Given the description of an element on the screen output the (x, y) to click on. 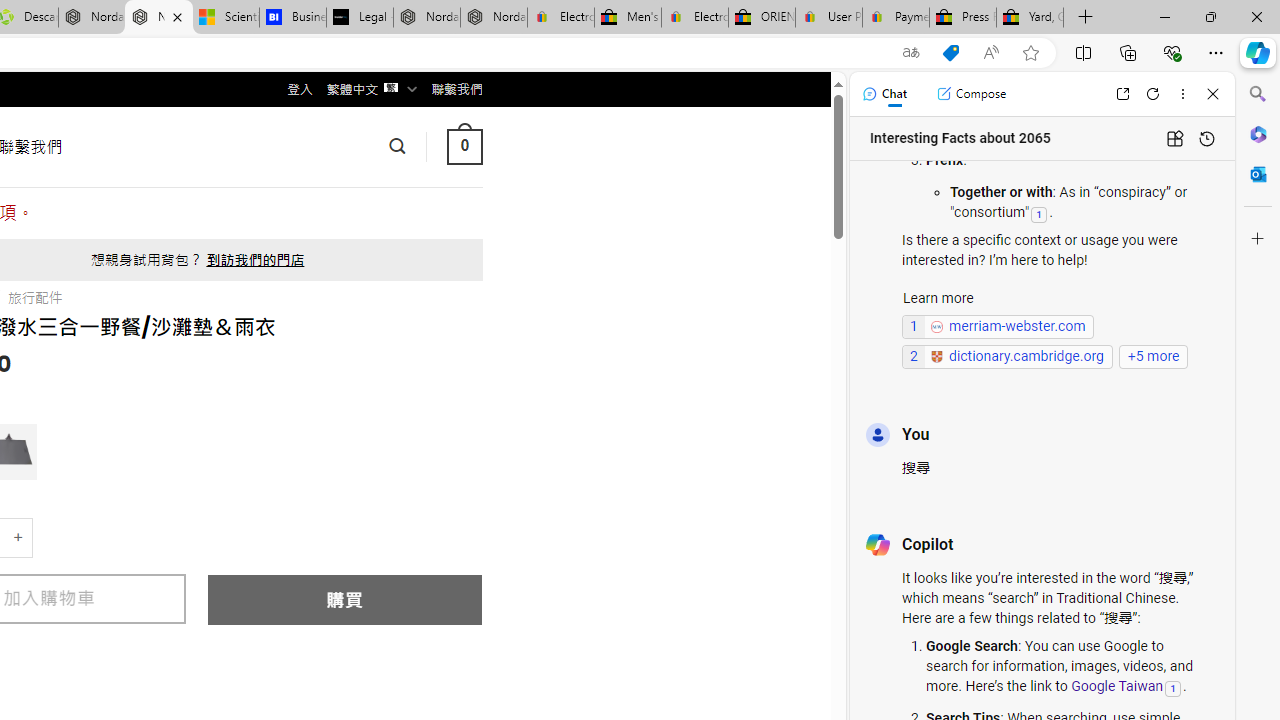
Compose (971, 93)
  0   (464, 146)
+ (19, 537)
